Given the description of an element on the screen output the (x, y) to click on. 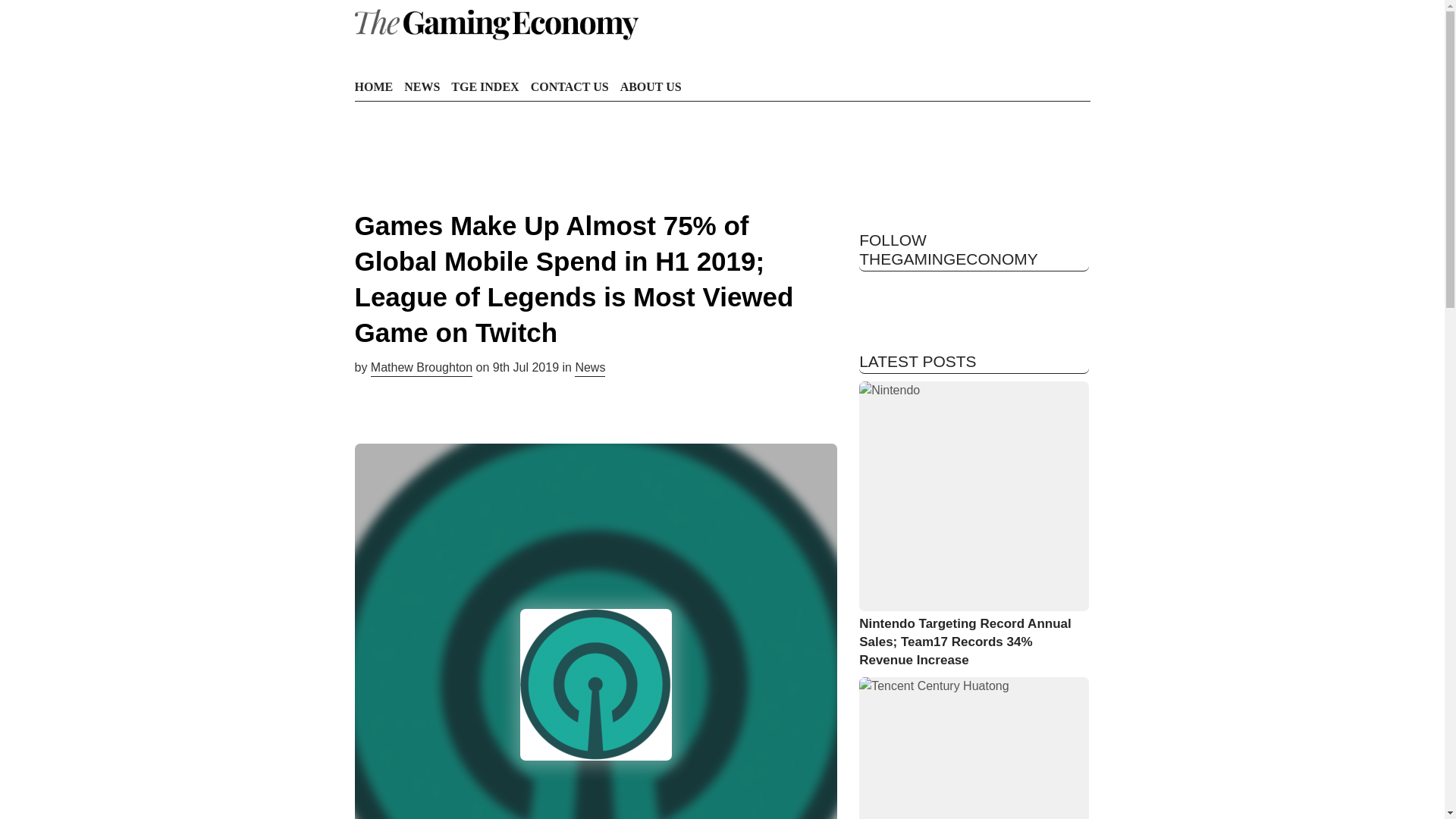
TGE INDEX (484, 86)
News (590, 368)
Twitter (874, 293)
CONTACT US (569, 86)
ABOUT US (650, 86)
Mathew Broughton (421, 368)
HOME (374, 86)
NEWS (421, 86)
